Given the description of an element on the screen output the (x, y) to click on. 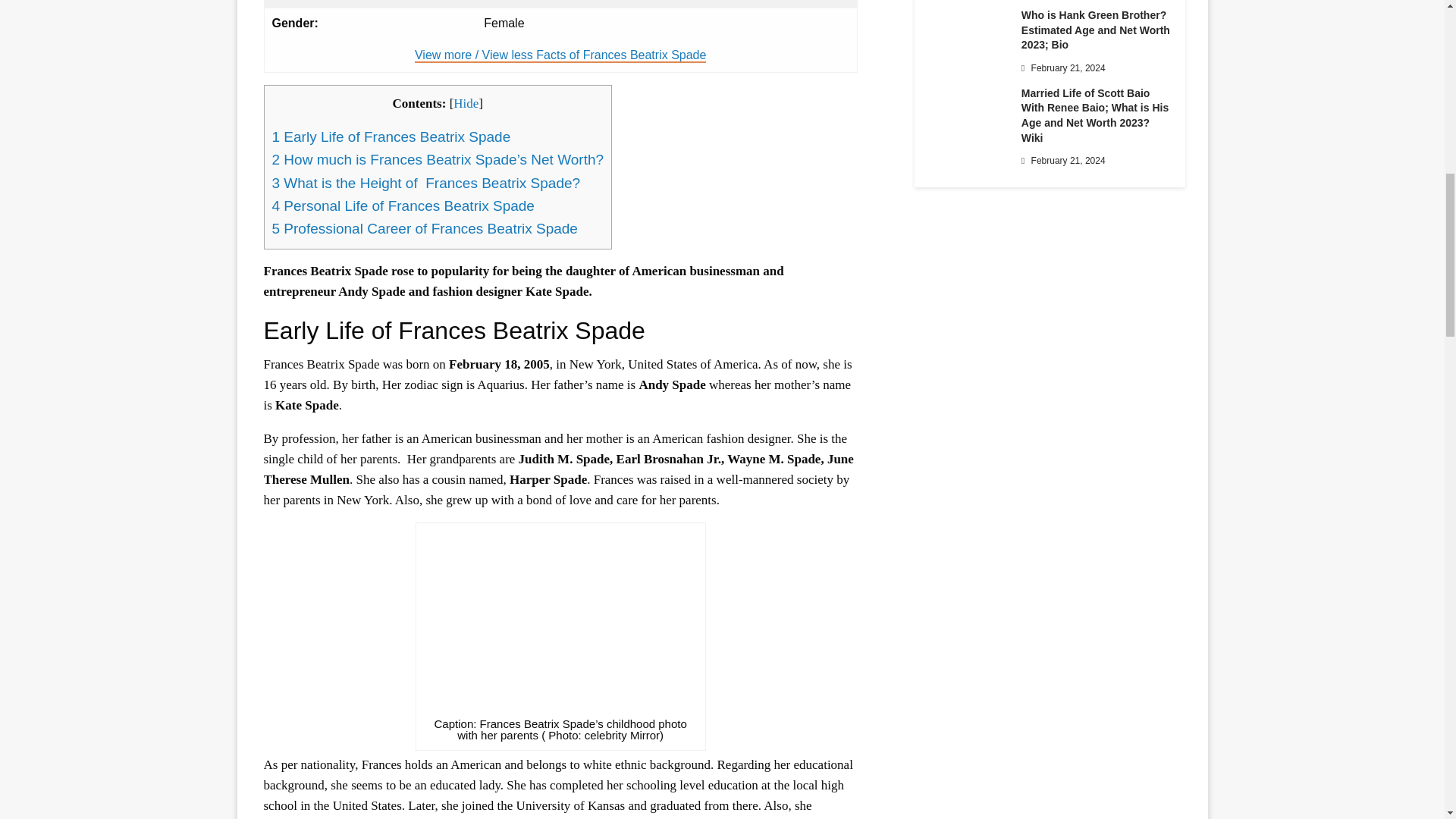
Hide (465, 103)
3 What is the Height of  Frances Beatrix Spade? (424, 182)
1 Early Life of Frances Beatrix Spade (390, 136)
